Given the description of an element on the screen output the (x, y) to click on. 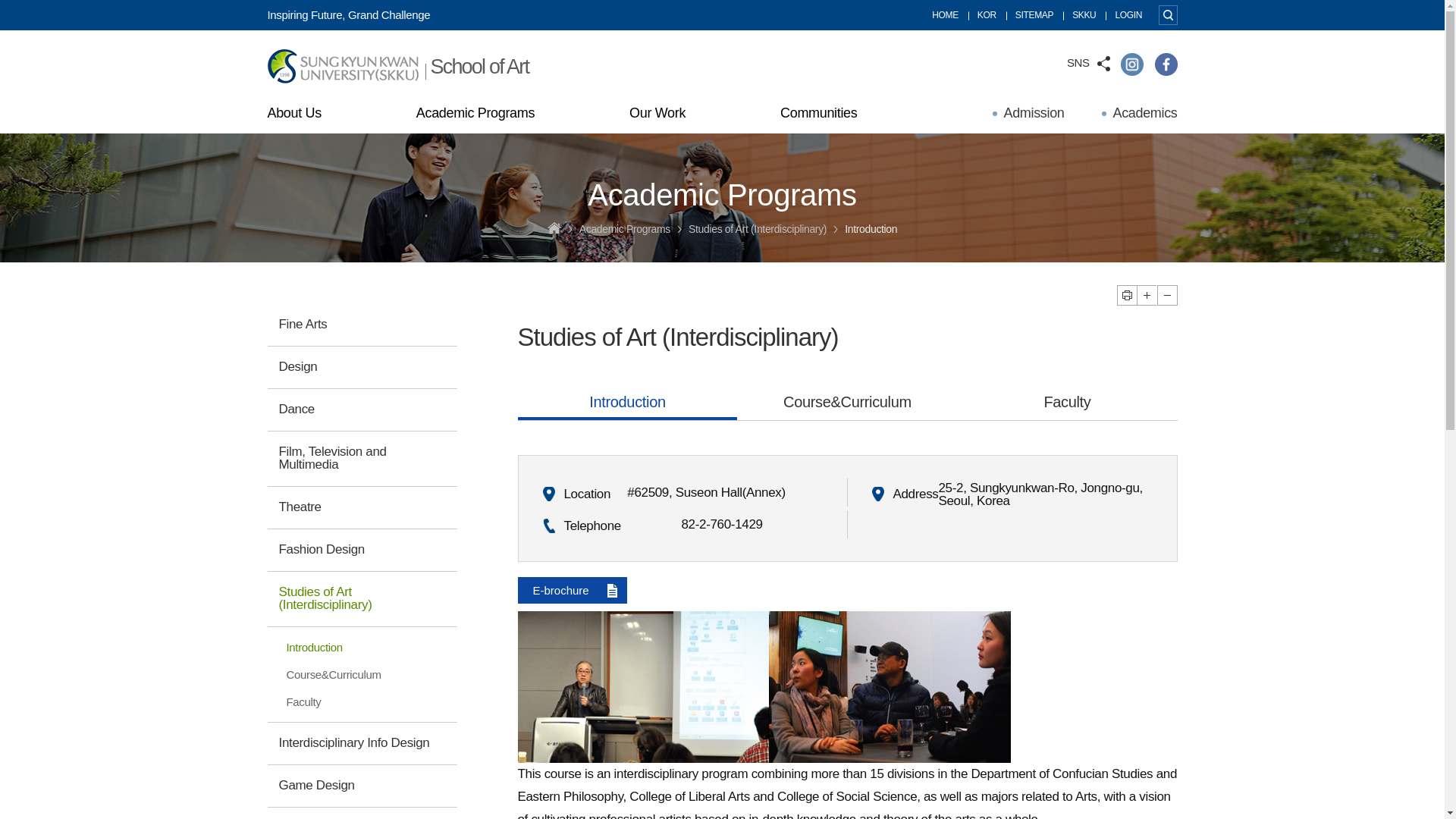
SKKU (1083, 14)
LOGIN (1128, 14)
About Us (302, 114)
LOGIN (1128, 14)
HOME (944, 14)
School of Art (397, 69)
Go to Facebook (1165, 63)
Communities (828, 114)
SITEMAP (1033, 14)
go to korean webpage (985, 14)
Go to Homepage (397, 69)
KOR (985, 14)
sitemap (1033, 14)
Go to Instagram (1131, 63)
Academic Programs (484, 114)
